Given the description of an element on the screen output the (x, y) to click on. 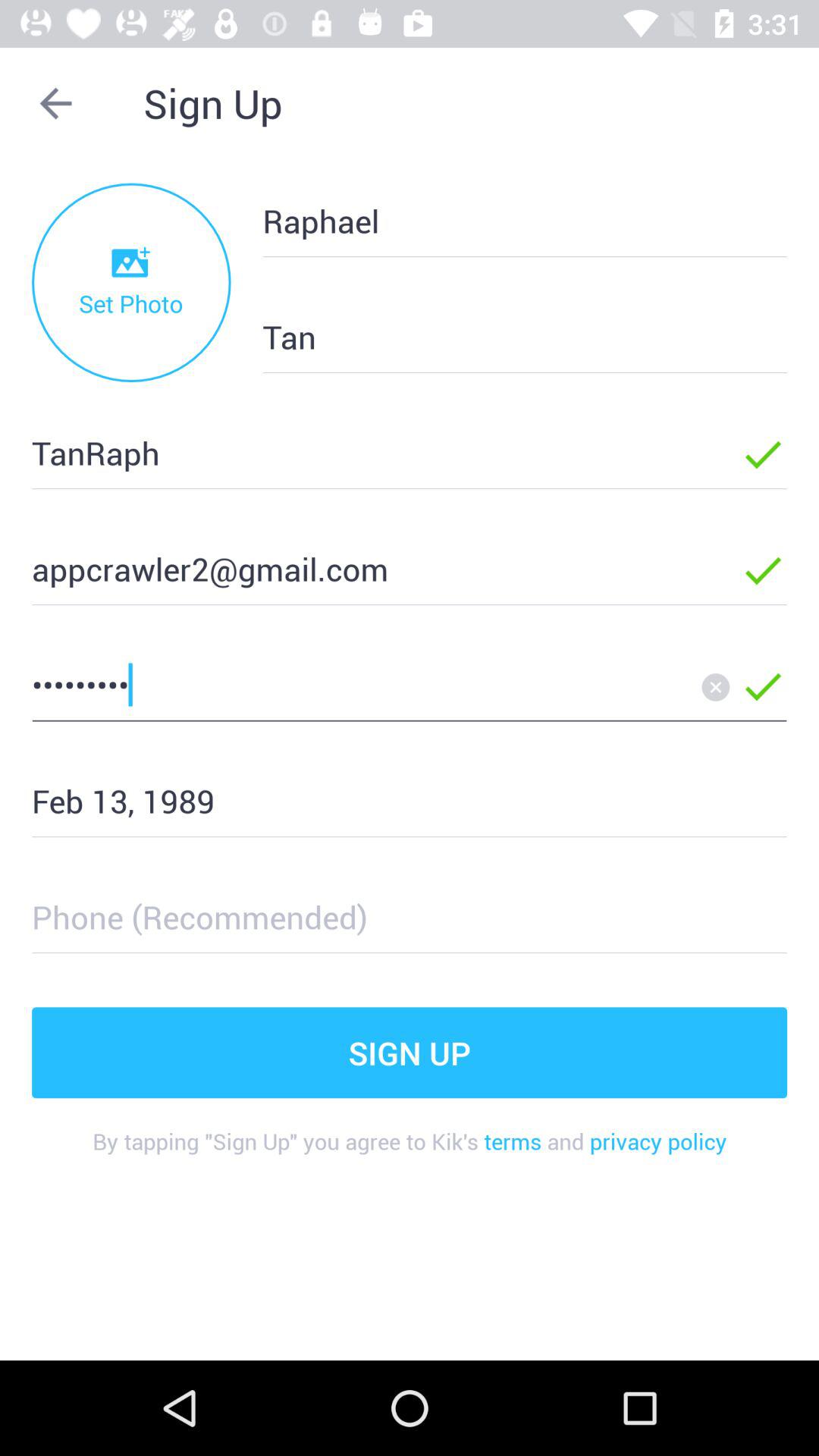
press the item to the right of the set photo item (500, 336)
